Given the description of an element on the screen output the (x, y) to click on. 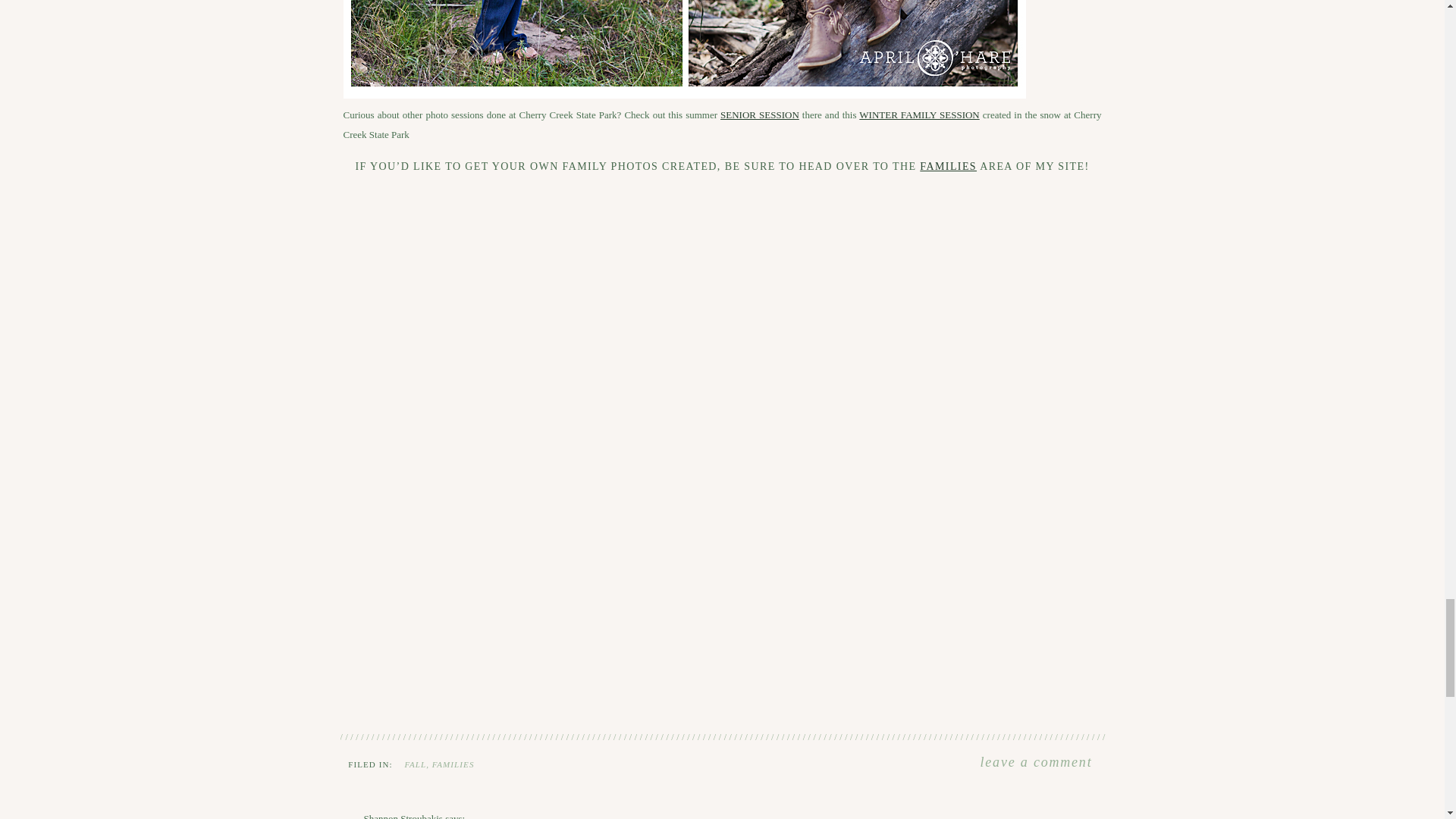
WINTER FAMILY SESSION (918, 114)
leave a comment (1036, 763)
FAMILIES (453, 764)
FAMILIES (948, 165)
Shannon Stroubakis (403, 816)
SENIOR SESSION (759, 114)
FALL (415, 764)
